Given the description of an element on the screen output the (x, y) to click on. 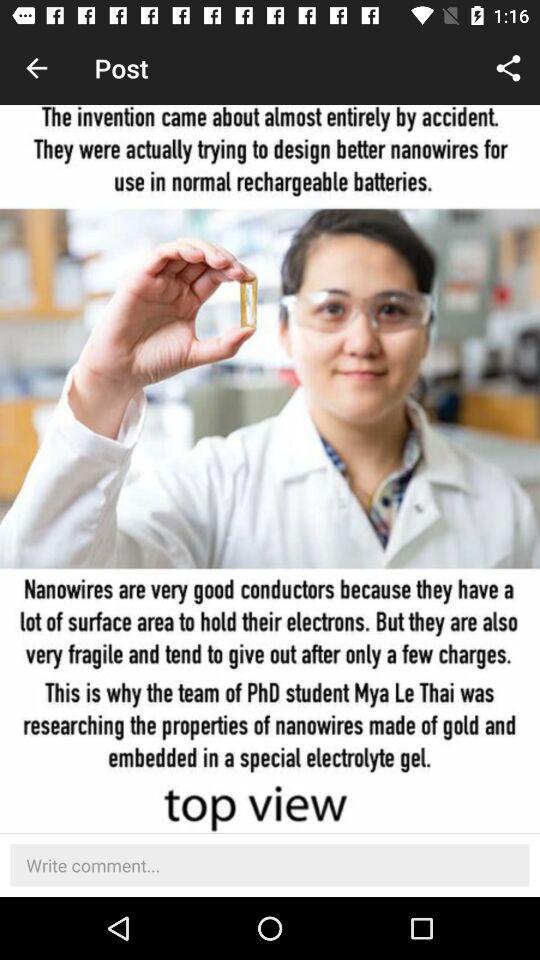
select item to the left of post (36, 68)
